Given the description of an element on the screen output the (x, y) to click on. 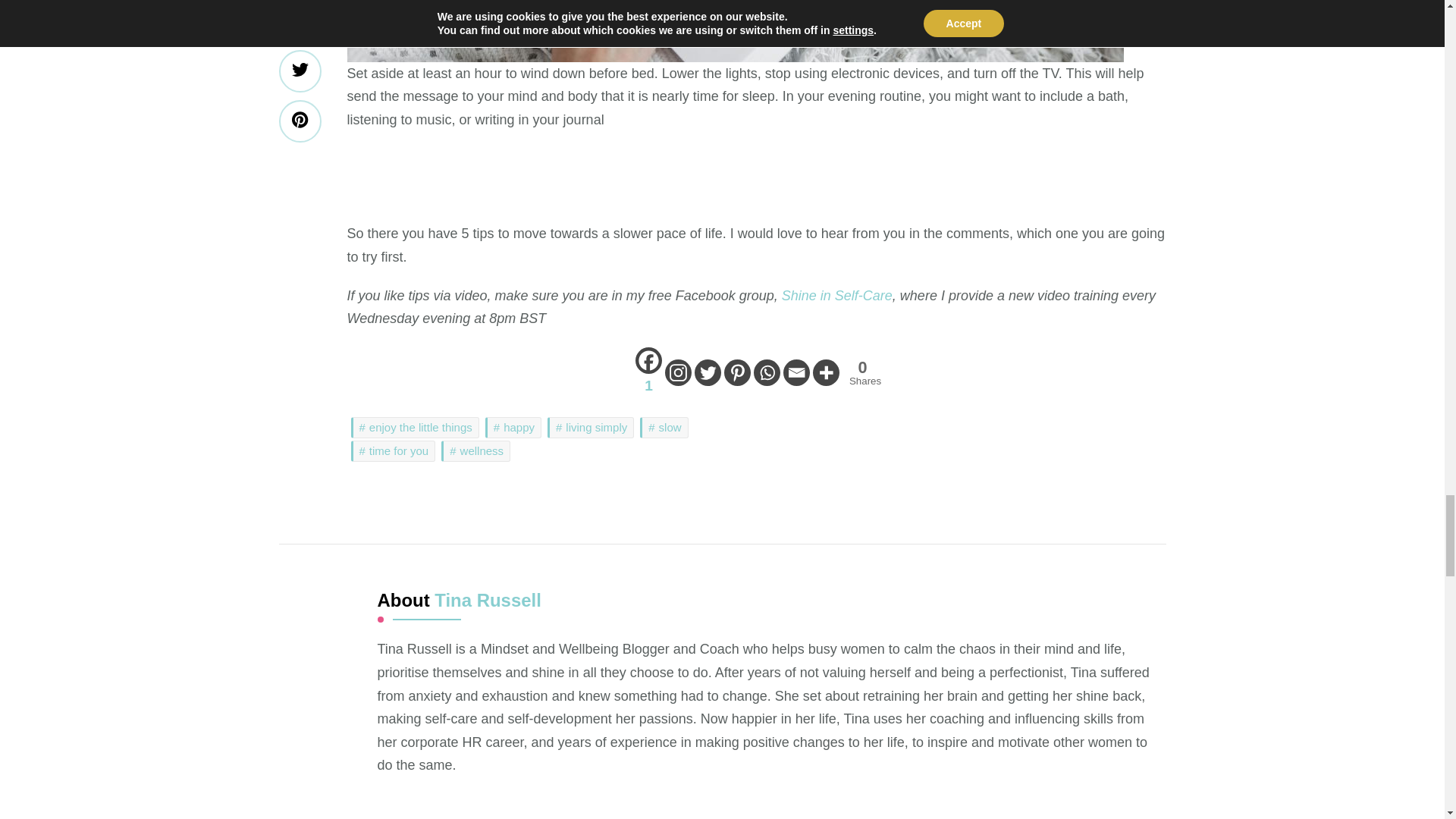
Twitter (707, 372)
Whatsapp (767, 372)
More (826, 372)
Pinterest (737, 372)
Total Shares (862, 372)
Email (796, 372)
Instagram (678, 372)
